Given the description of an element on the screen output the (x, y) to click on. 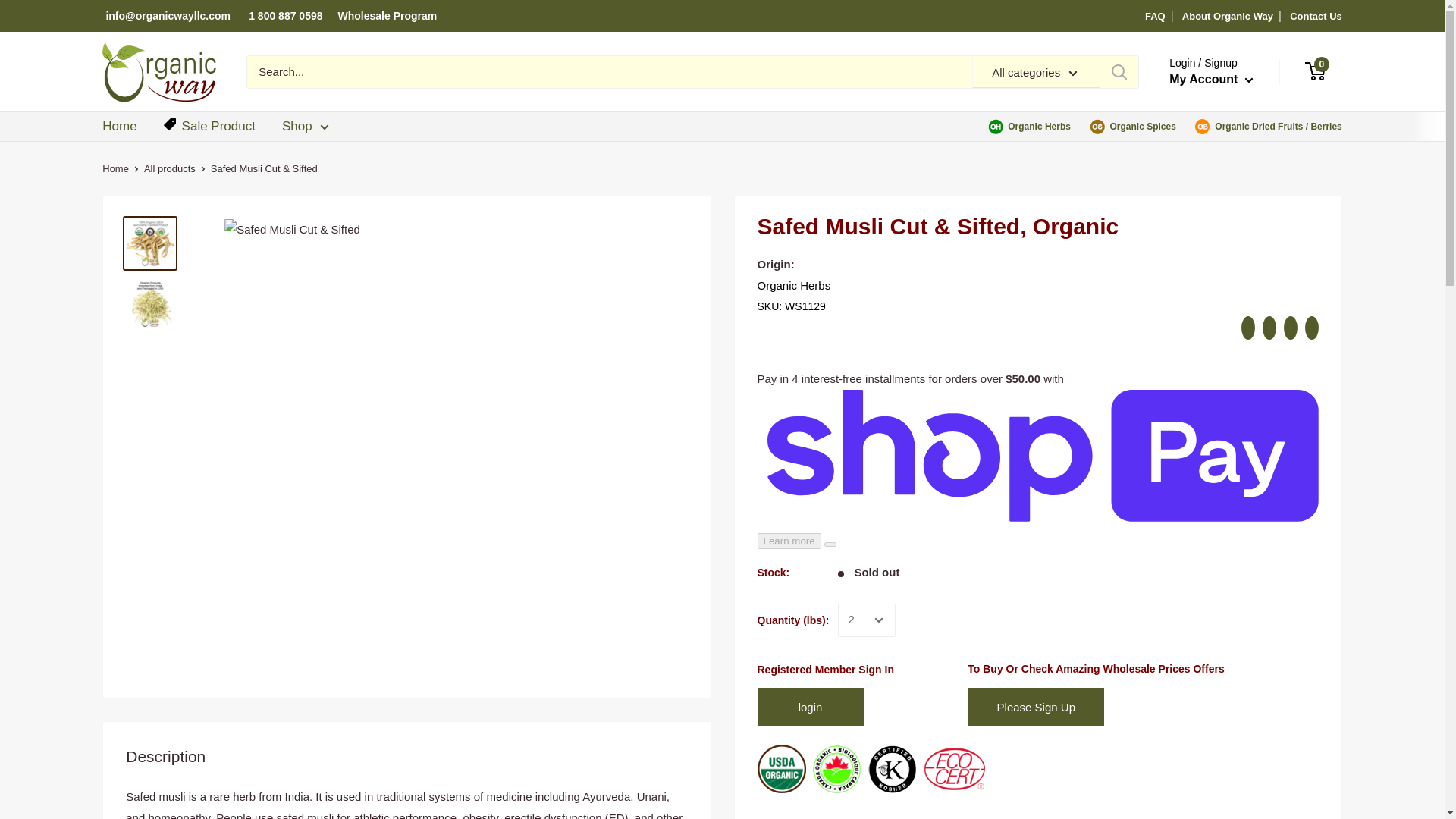
1 800 887 0598 (284, 15)
FAQ (1155, 16)
About Organic Way (1227, 16)
Contact Us (1316, 16)
Wholesale Program (387, 15)
My Account (1211, 78)
0 (1324, 71)
